Given the description of an element on the screen output the (x, y) to click on. 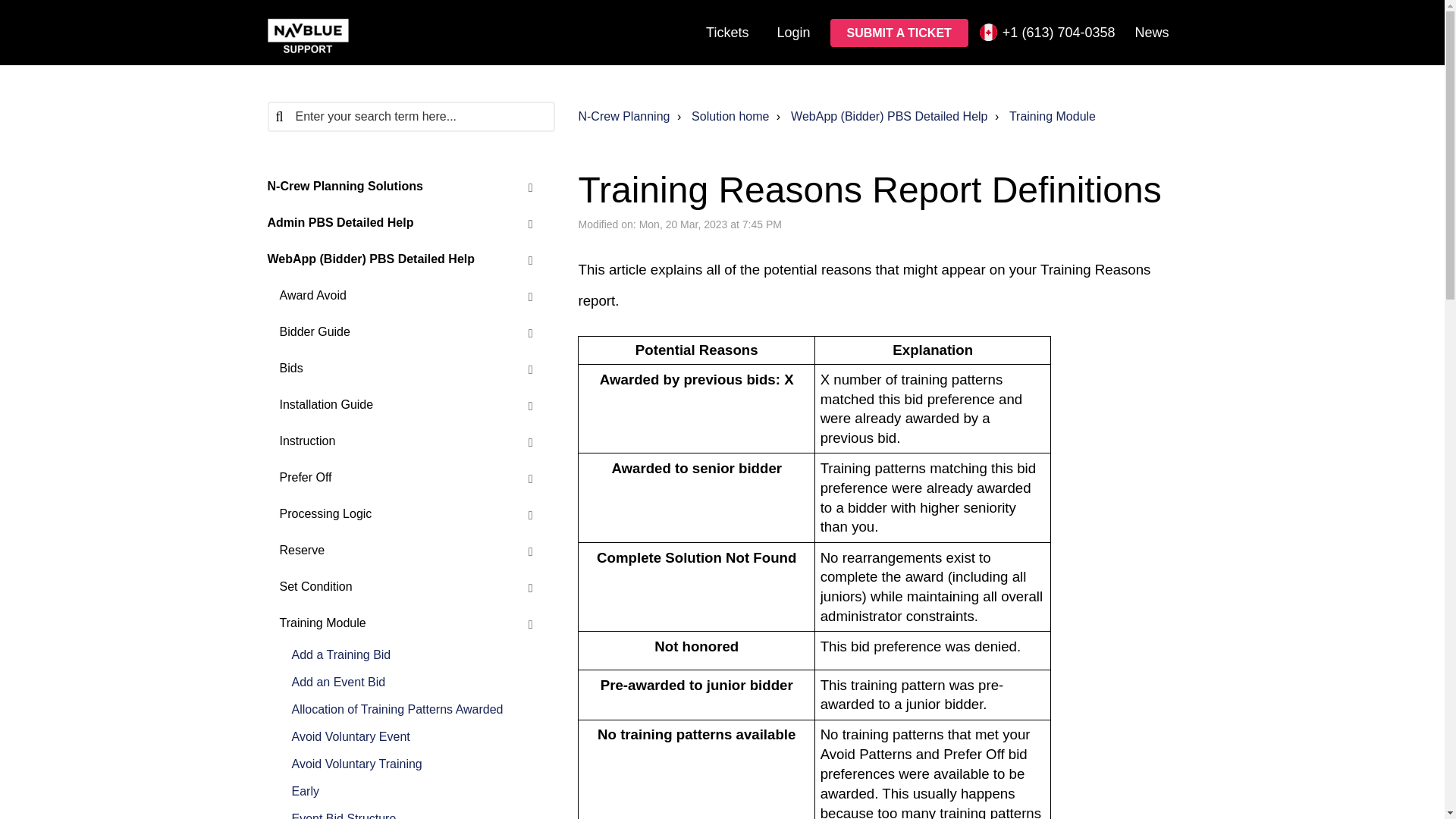
Training Module (1043, 116)
Training Module (1052, 115)
Login (793, 32)
News (1150, 32)
N-Crew Planning (623, 115)
Tickets (727, 32)
SUBMIT A TICKET (898, 31)
Solution home (729, 115)
N-Crew Planning Solutions (399, 186)
Solution home (721, 116)
